Given the description of an element on the screen output the (x, y) to click on. 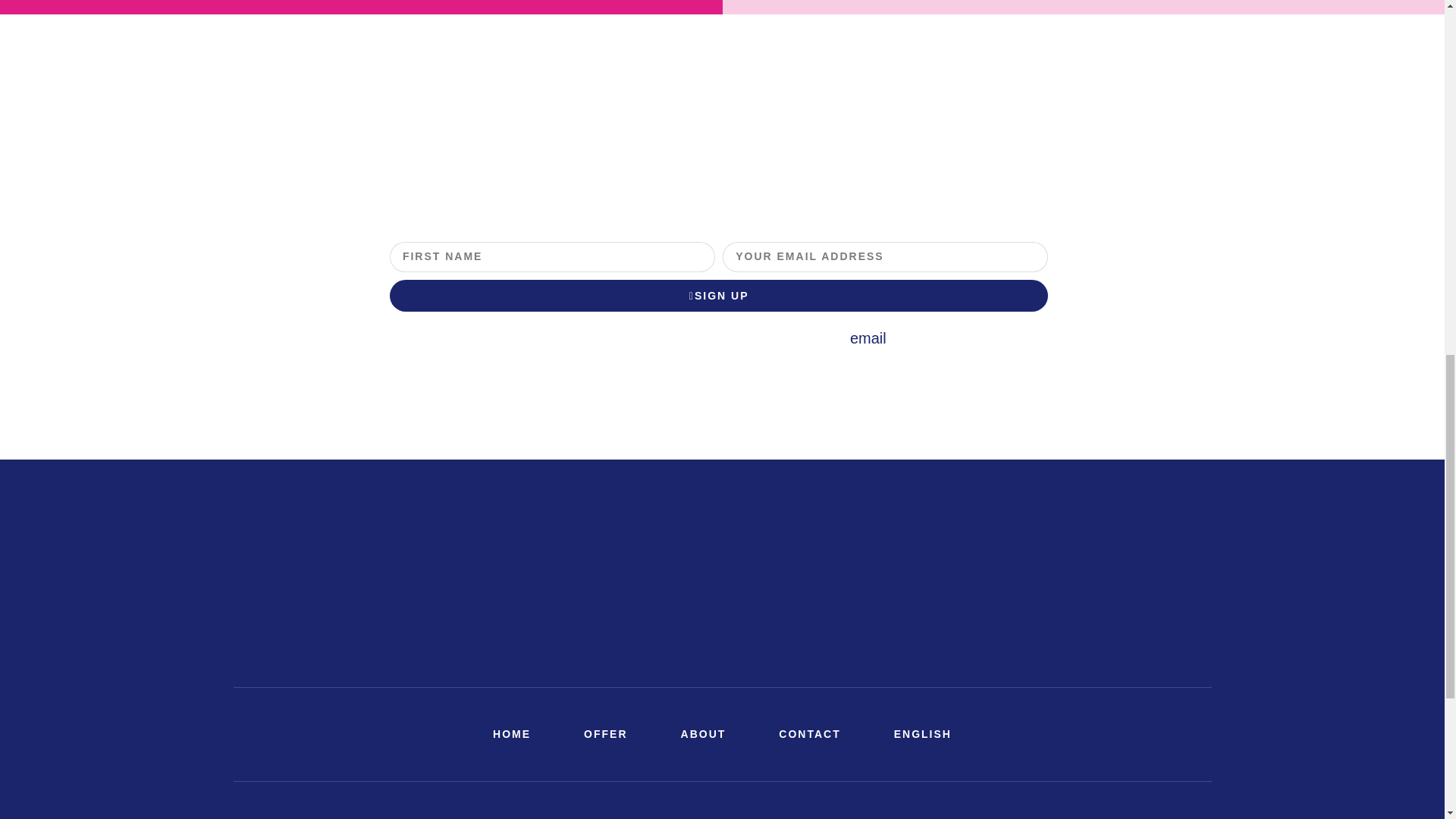
email (868, 338)
HOME (511, 734)
SIGN UP (719, 296)
ABOUT (703, 734)
OFFER (605, 734)
CONTACT (809, 734)
